Given the description of an element on the screen output the (x, y) to click on. 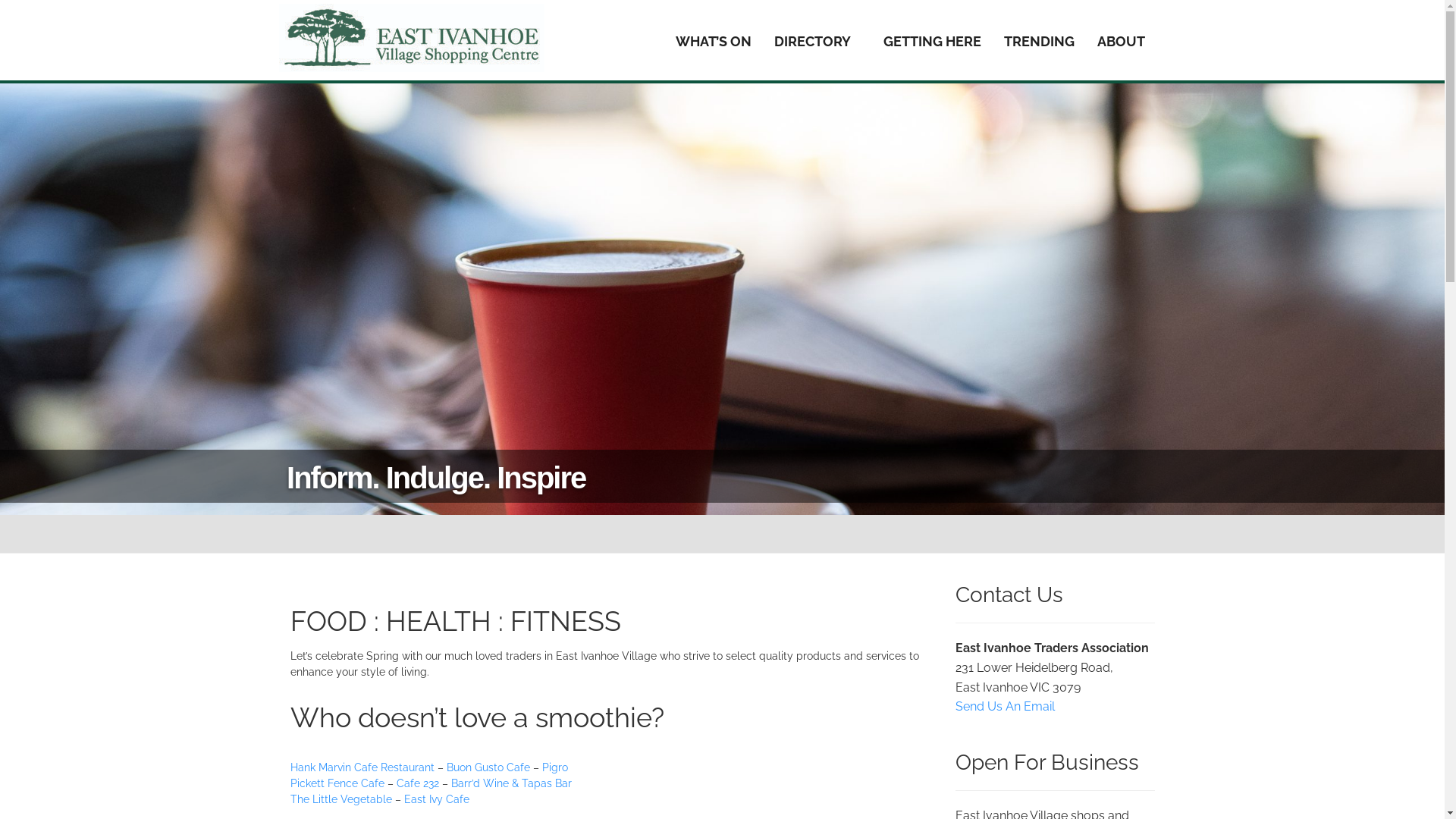
Cafe 232 Element type: text (416, 783)
DIRECTORY Element type: text (817, 41)
East Ivy Cafe Element type: text (435, 799)
TRENDING Element type: text (1038, 41)
Pigro Element type: text (554, 767)
Hank Marvin Cafe Restaurant Element type: text (361, 767)
ABOUT Element type: text (1125, 41)
GETTING HERE Element type: text (932, 41)
Buon Gusto Cafe Element type: text (487, 767)
Pickett Fence Cafe Element type: text (336, 783)
The Little Vegetable Element type: text (340, 799)
Send Us An Email Element type: text (1004, 706)
